Given the description of an element on the screen output the (x, y) to click on. 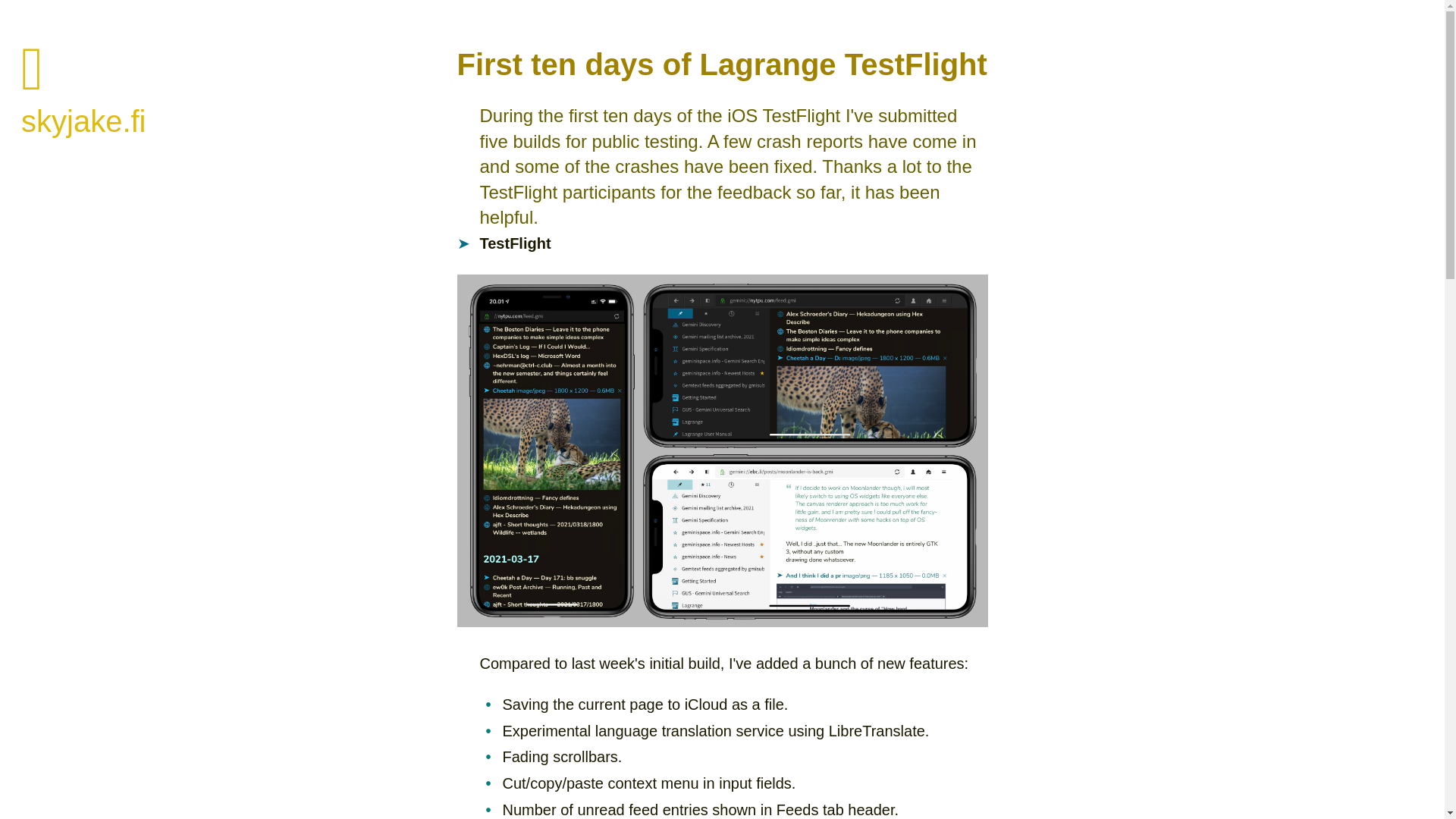
TestFlight (514, 243)
